Given the description of an element on the screen output the (x, y) to click on. 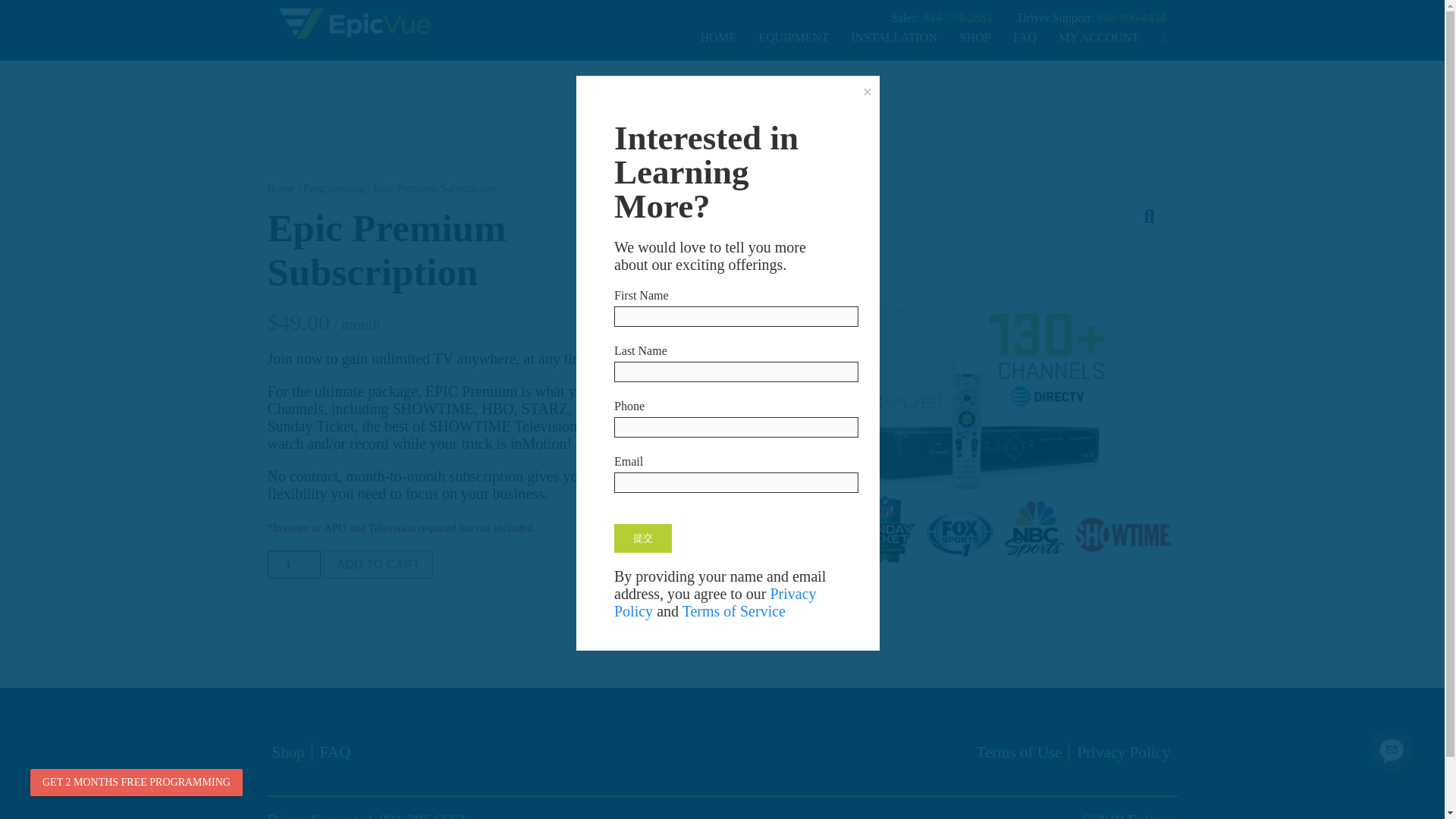
Privacy Policy (1123, 751)
FAQ (1024, 37)
INSTALLATION (894, 37)
866-900-4434 (1131, 17)
844-374-2883 (958, 17)
Terms of Service (734, 610)
HOME (717, 37)
Shop (287, 751)
GET 2 MONTHS FREE PROGRAMMING (136, 782)
MY ACCOUNT (1098, 37)
Privacy Policy (715, 602)
Qty (293, 564)
ADD TO CART (377, 564)
SHOP (975, 37)
